Given the description of an element on the screen output the (x, y) to click on. 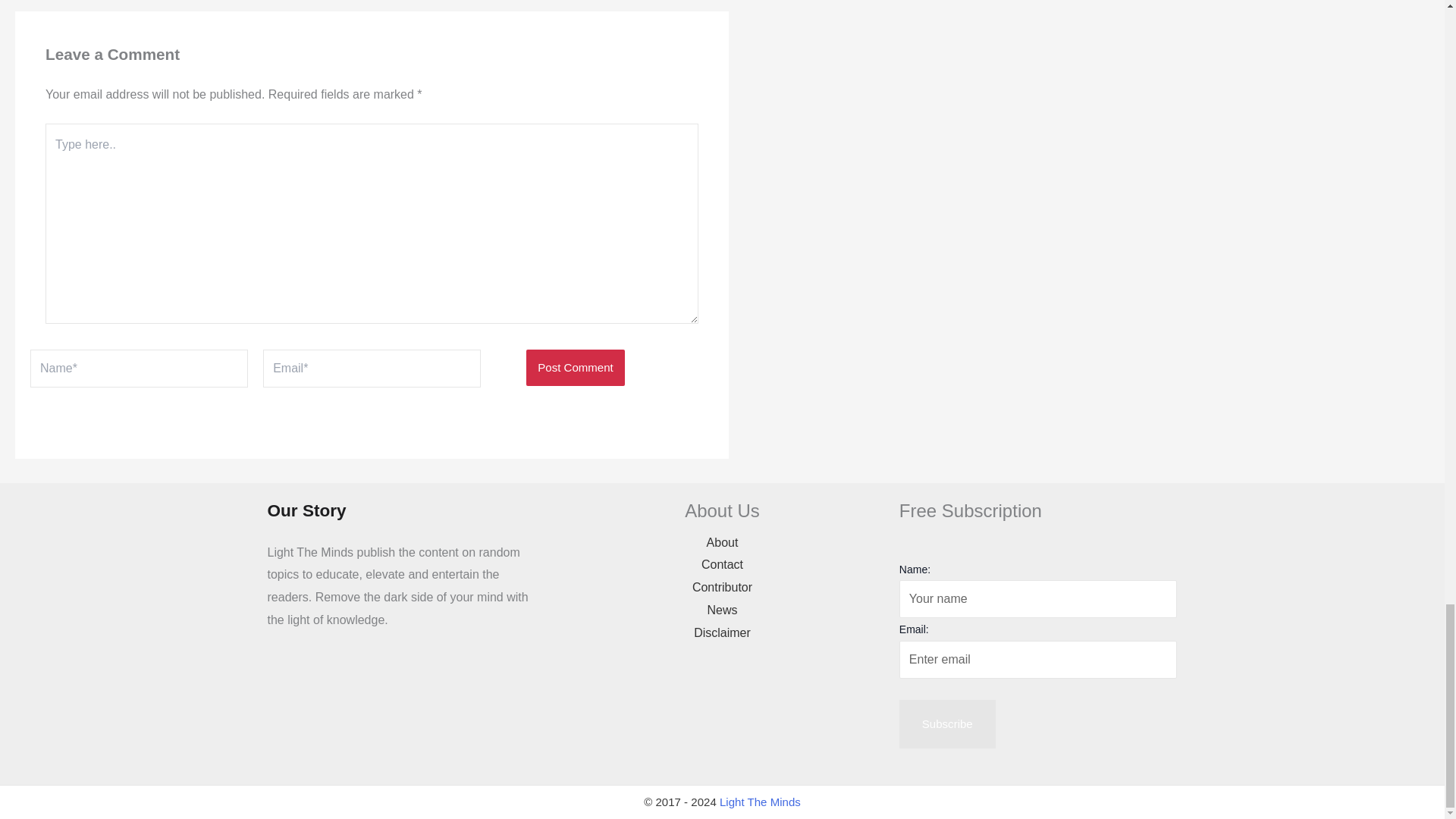
Post Comment (574, 367)
Subscribe (947, 724)
Enter email (1038, 659)
Your name (1038, 598)
